Given the description of an element on the screen output the (x, y) to click on. 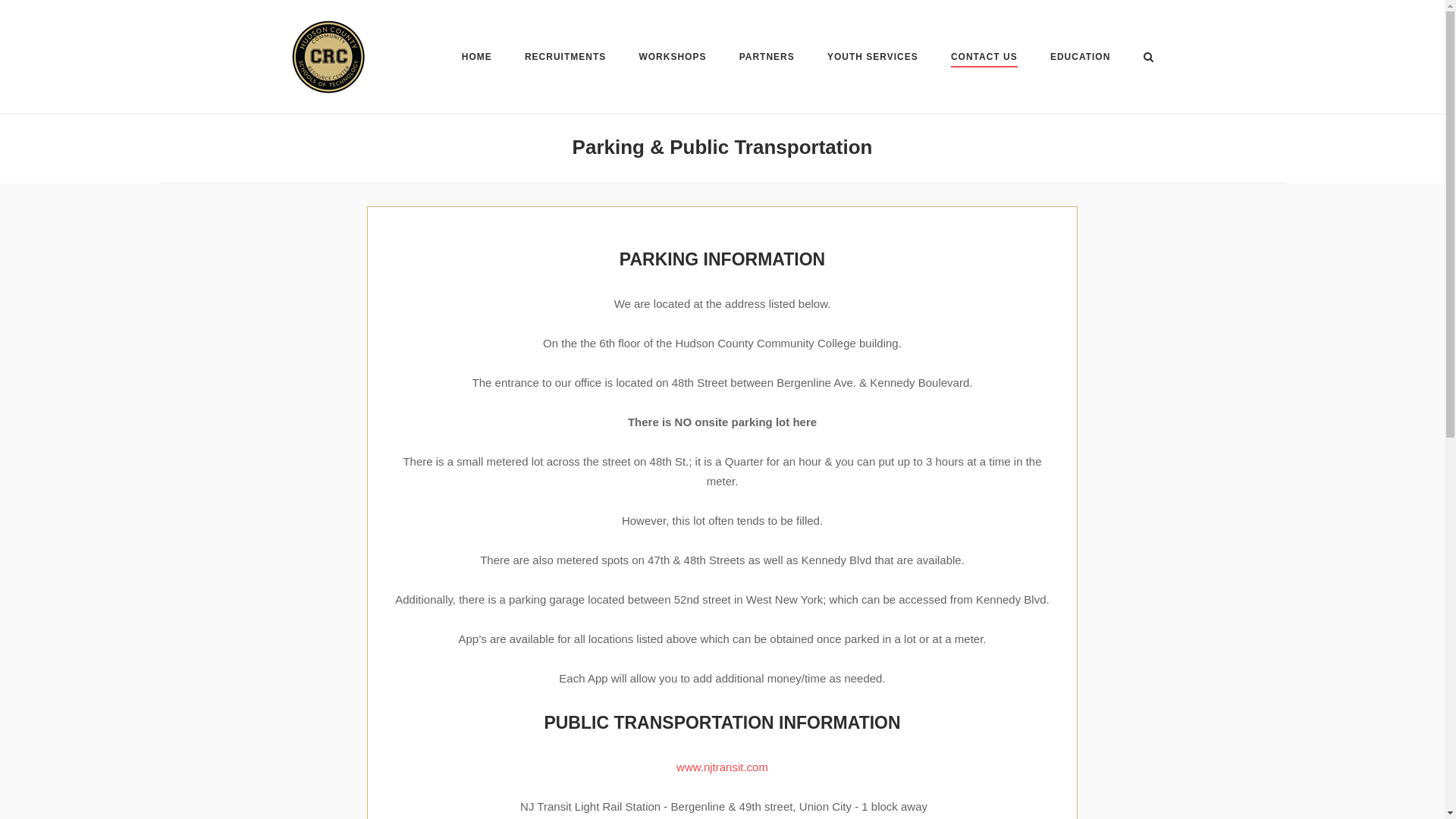
HOME (476, 59)
YOUTH SERVICES (872, 58)
CONTACT US (983, 59)
EDUCATION (1079, 58)
RECRUITMENTS (564, 59)
PARTNERS (766, 59)
www.njtransit.com (722, 766)
WORKSHOPS (672, 59)
